Given the description of an element on the screen output the (x, y) to click on. 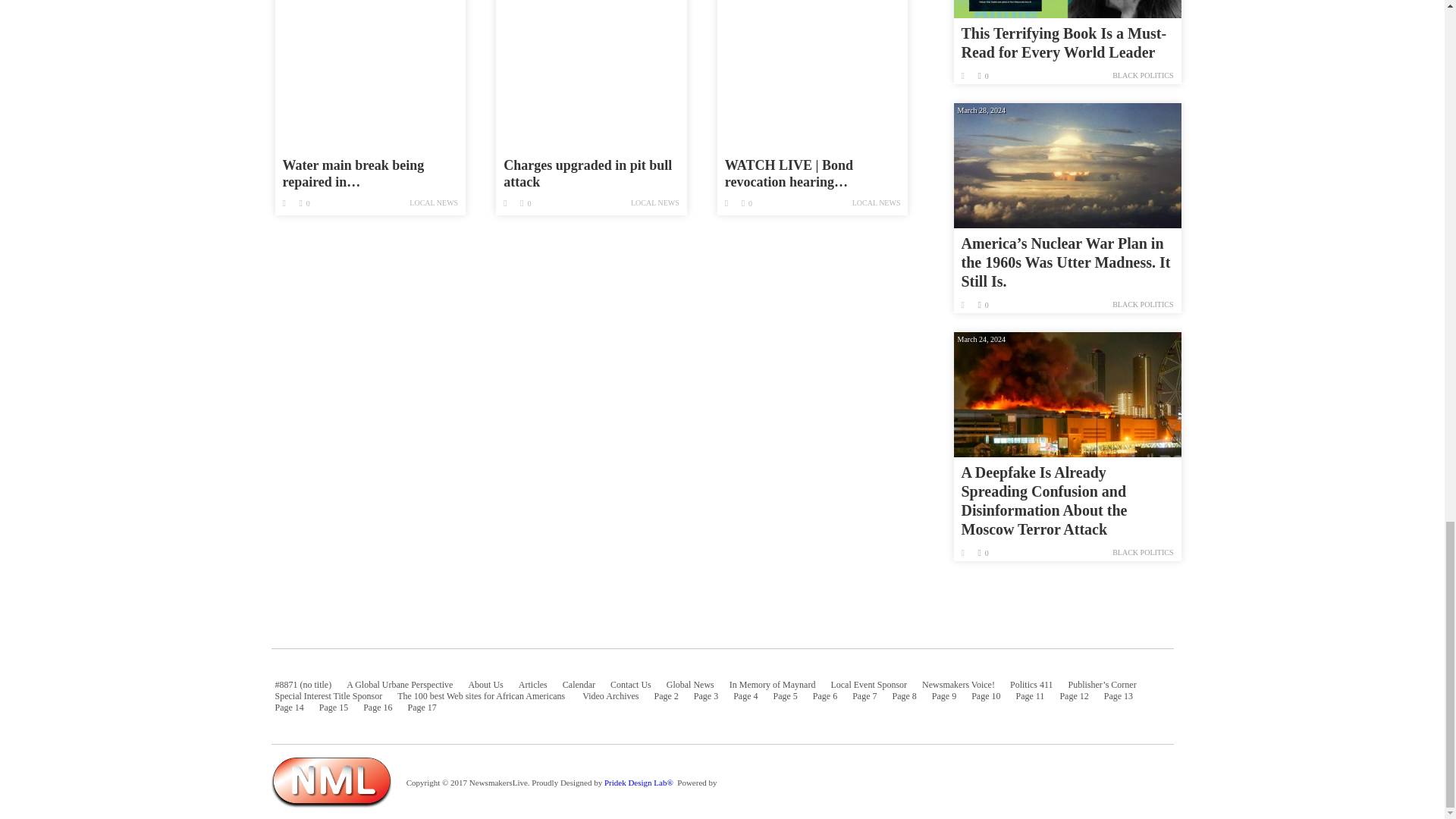
Charges upgraded in pit bull attack (591, 72)
Charges upgraded in pit bull attack (591, 173)
